Given the description of an element on the screen output the (x, y) to click on. 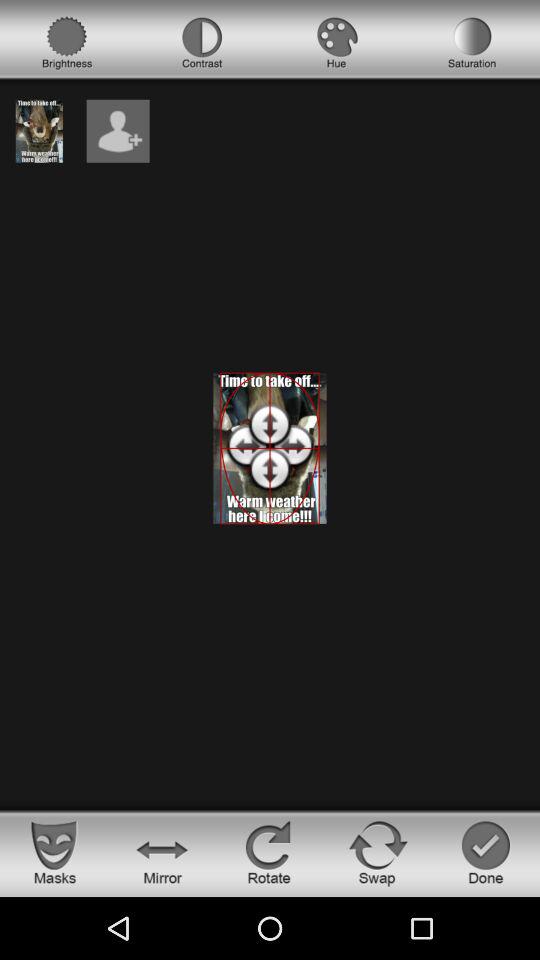
choose contrast option (202, 43)
